Given the description of an element on the screen output the (x, y) to click on. 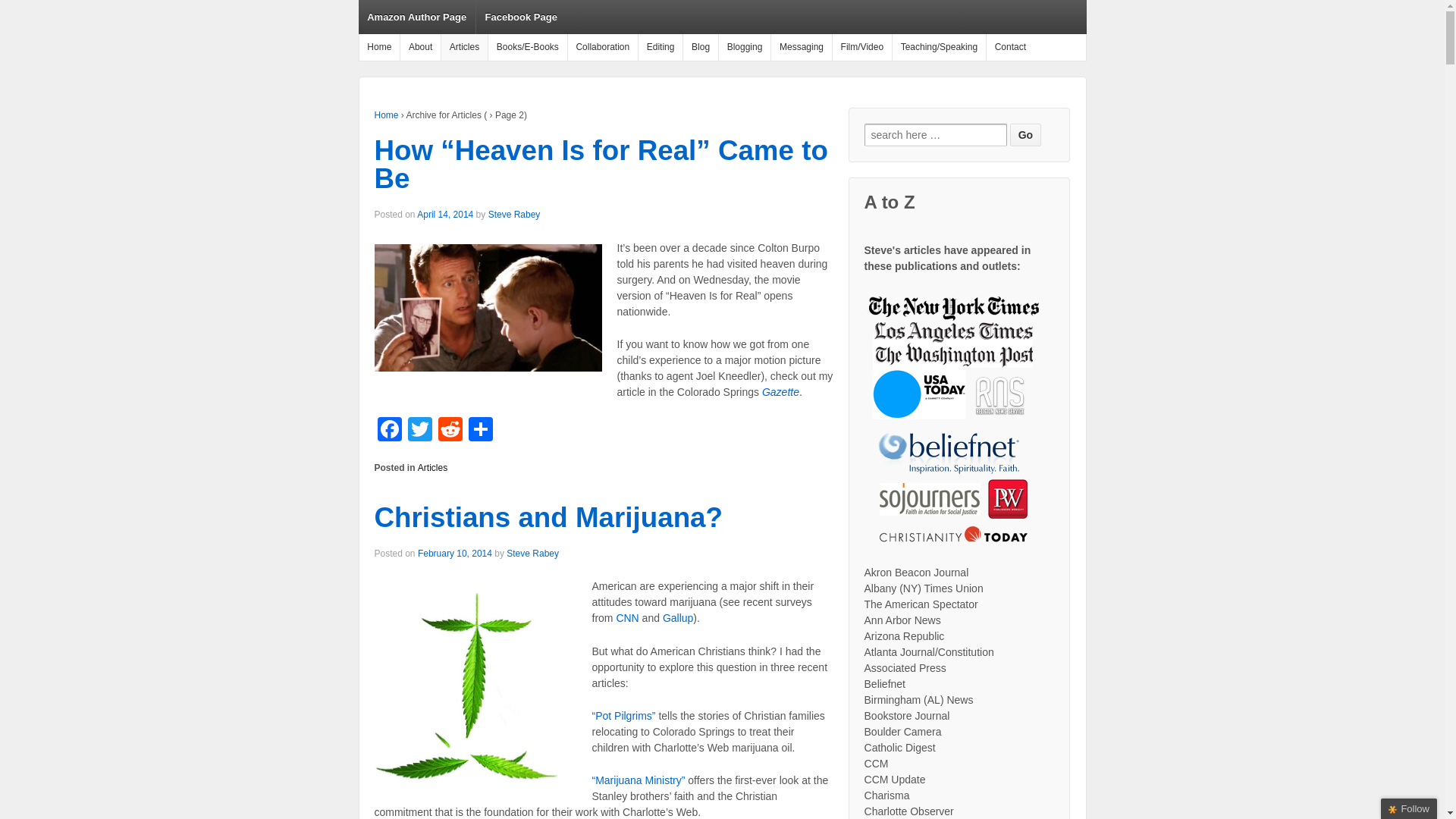
Editing (659, 47)
Permanent Link to Christians and Marijuana? (548, 517)
Gallup (677, 617)
View all posts by Steve Rabey (532, 552)
Steve Rabey (513, 214)
Christians and Marijuana? (548, 517)
Articles (431, 467)
Blogging (743, 47)
Twitter (419, 430)
About (419, 47)
Contact (1009, 47)
February 10, 2014 (454, 552)
Collaboration (602, 47)
Reddit (450, 430)
CNN (627, 617)
